Given the description of an element on the screen output the (x, y) to click on. 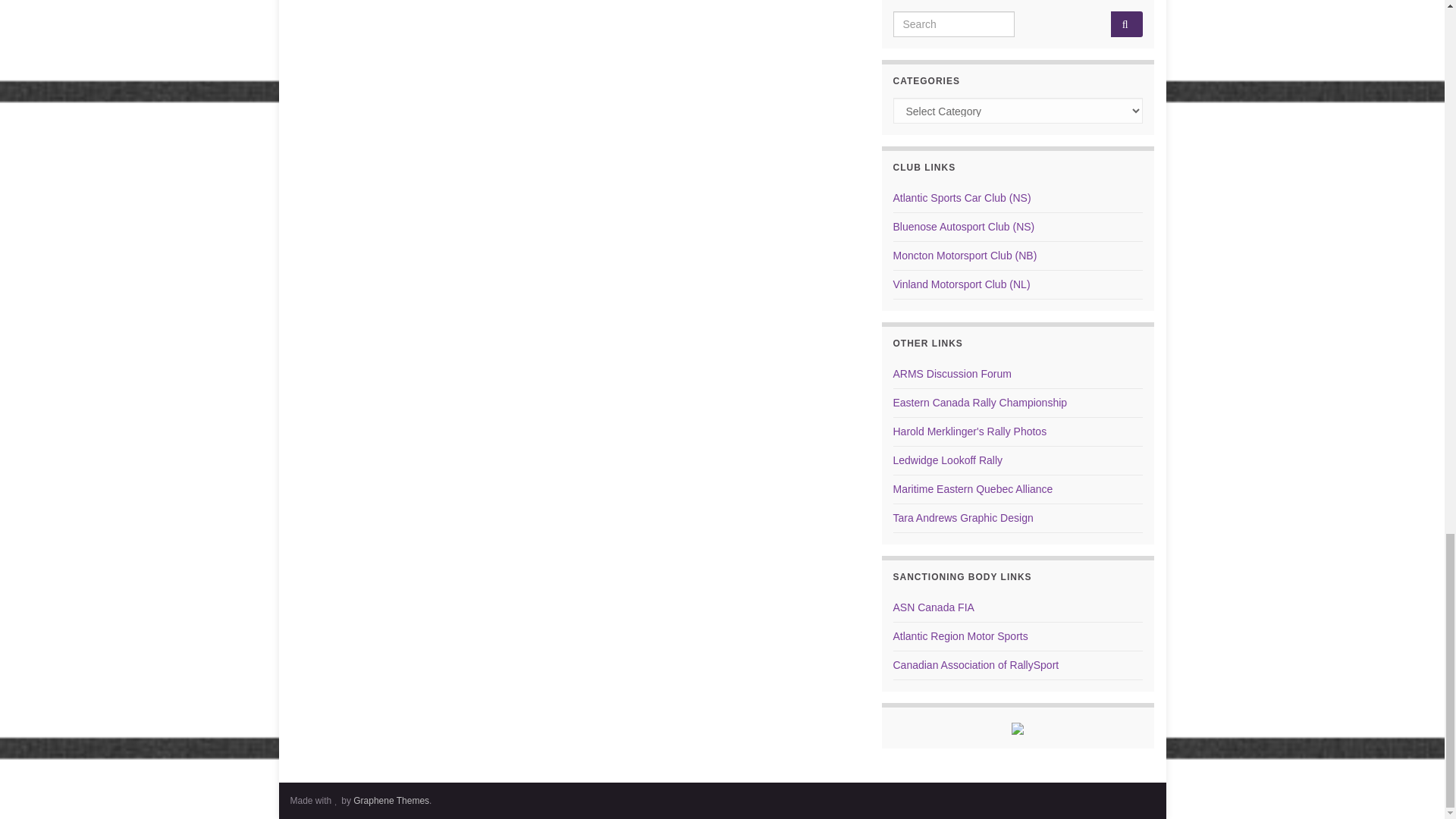
Designer of the Rally East Logos! (963, 517)
Photos from ARMS Rally Events by Harold Merklinger (969, 431)
